Given the description of an element on the screen output the (x, y) to click on. 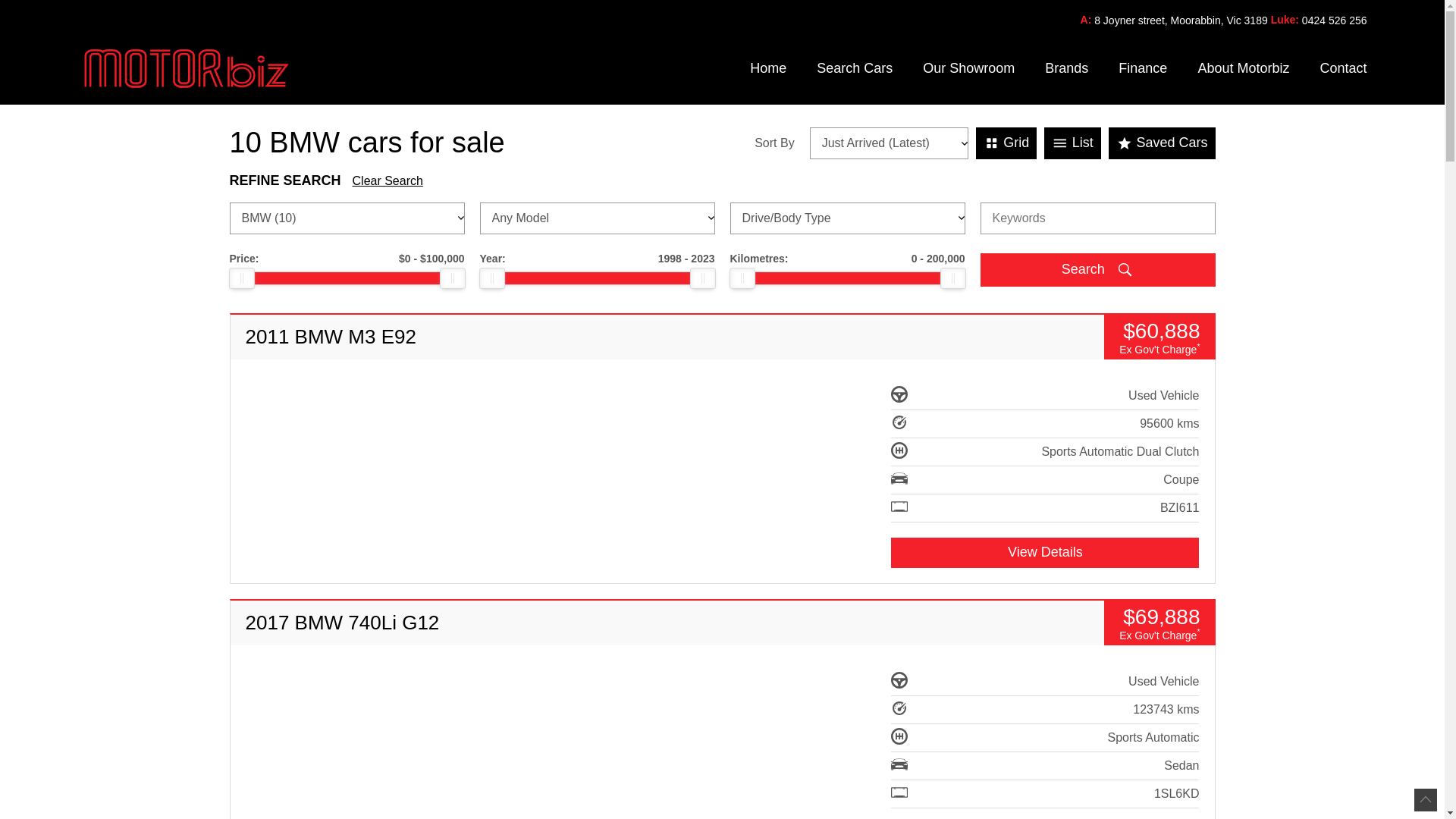
Grid Element type: text (1006, 143)
Saved Cars Element type: text (1161, 143)
Brands Element type: text (1066, 68)
Finance Element type: text (1142, 68)
Our Showroom Element type: text (968, 68)
Home Element type: text (767, 68)
0424 526 256 Element type: text (1334, 20)
View Details Element type: text (1044, 552)
8 Joyner street, Moorabbin, Vic 3189 Element type: text (1180, 20)
Contact Element type: text (1335, 68)
Search Cars Element type: text (854, 68)
About Motorbiz Element type: text (1243, 68)
Search Element type: text (1096, 269)
List Element type: text (1072, 143)
Clear Search Element type: text (387, 181)
